Given the description of an element on the screen output the (x, y) to click on. 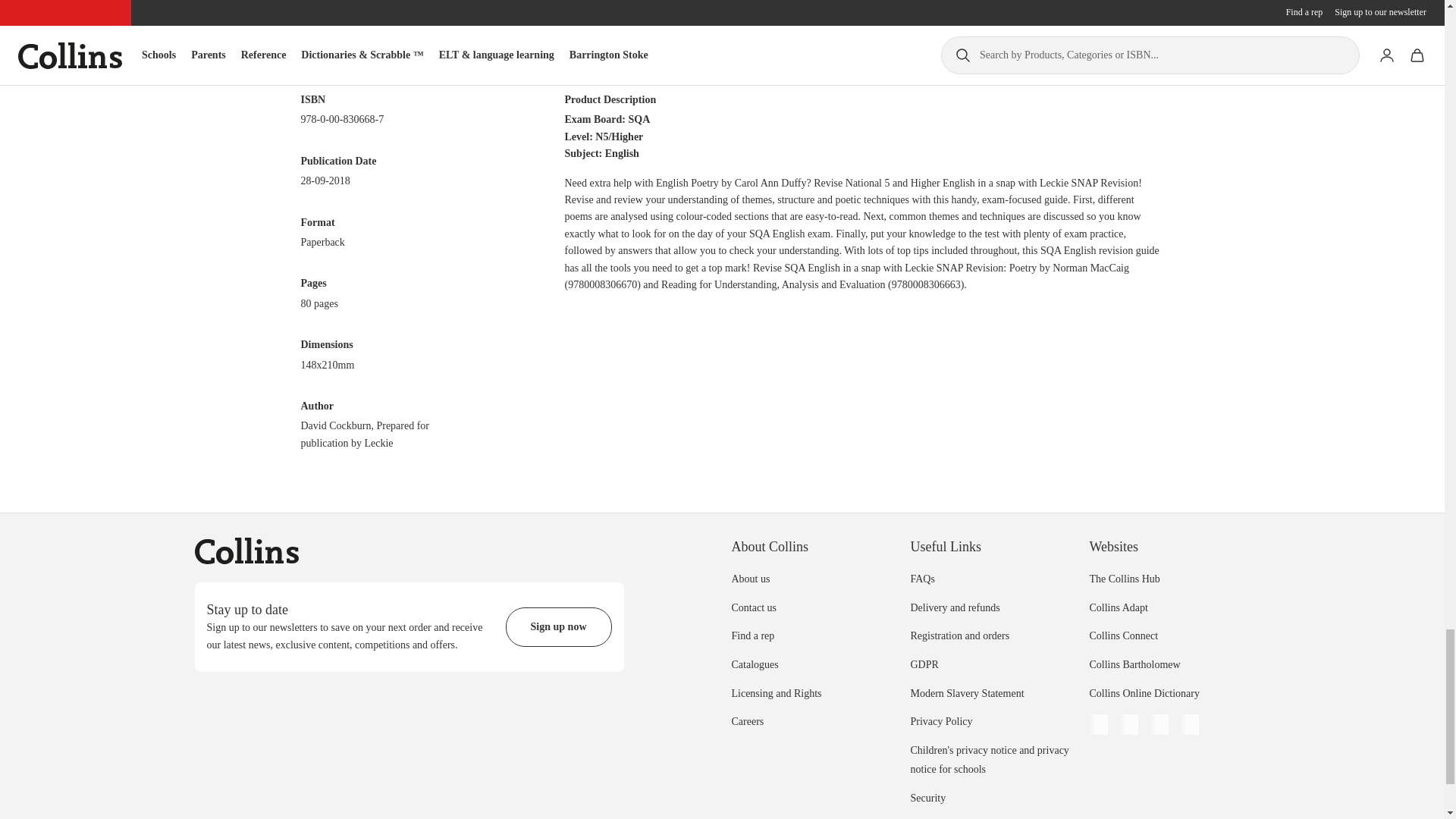
Find a rep (752, 635)
Privacy Policy (941, 721)
Registration and orders (959, 635)
GDPR (923, 664)
Sign up now (558, 627)
Children's privacy notice and privacy notice for schools (989, 759)
Delivery and refunds (954, 607)
Contact us (753, 607)
FAQs (922, 578)
Security (927, 797)
About us (750, 578)
Modern Slavery Statement (966, 693)
Licensing and Rights (775, 693)
Catalogues (753, 664)
Careers (746, 721)
